Given the description of an element on the screen output the (x, y) to click on. 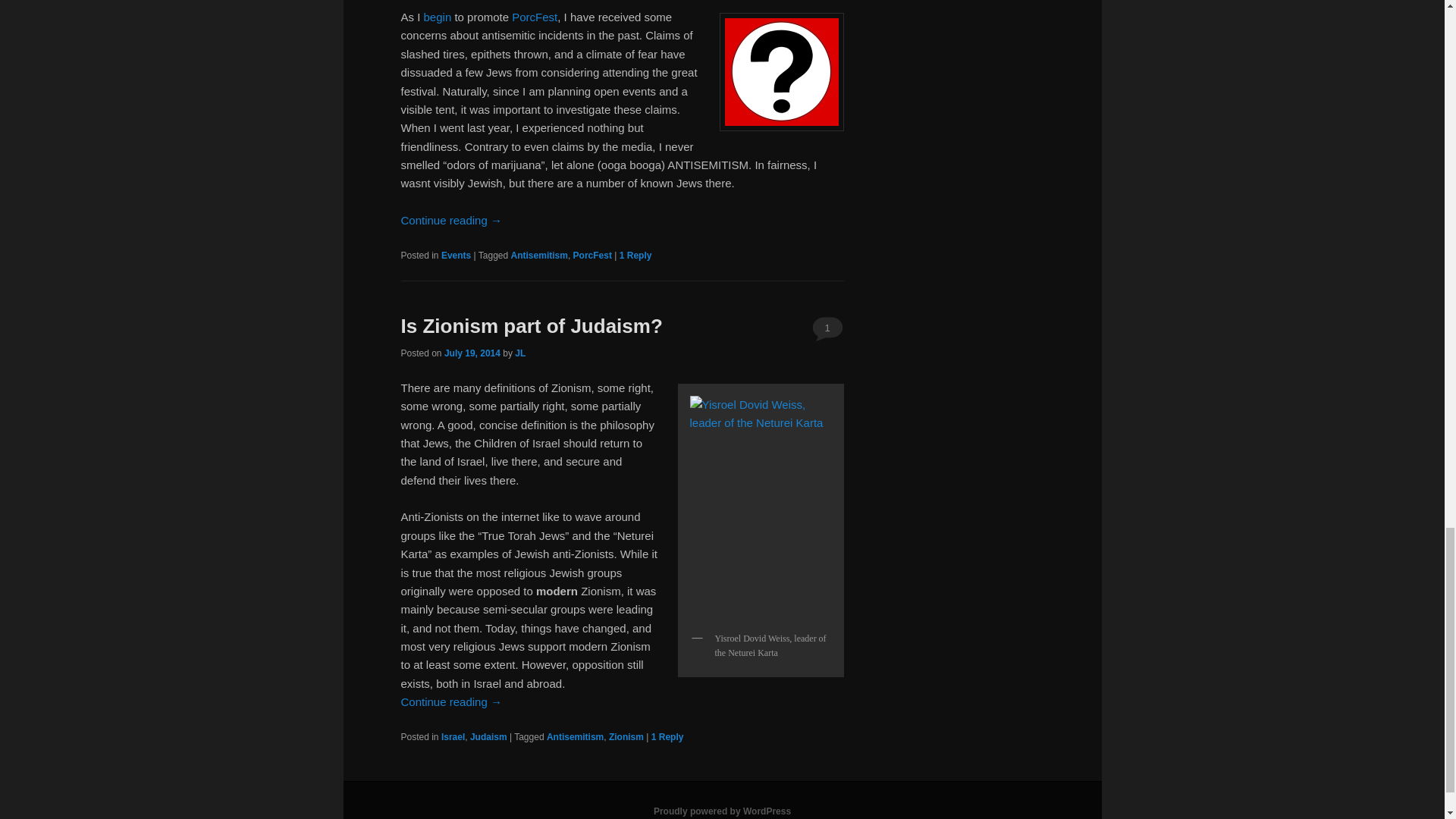
View all posts by JL (520, 353)
Semantic Personal Publishing Platform (721, 810)
9:10 pm (472, 353)
